Given the description of an element on the screen output the (x, y) to click on. 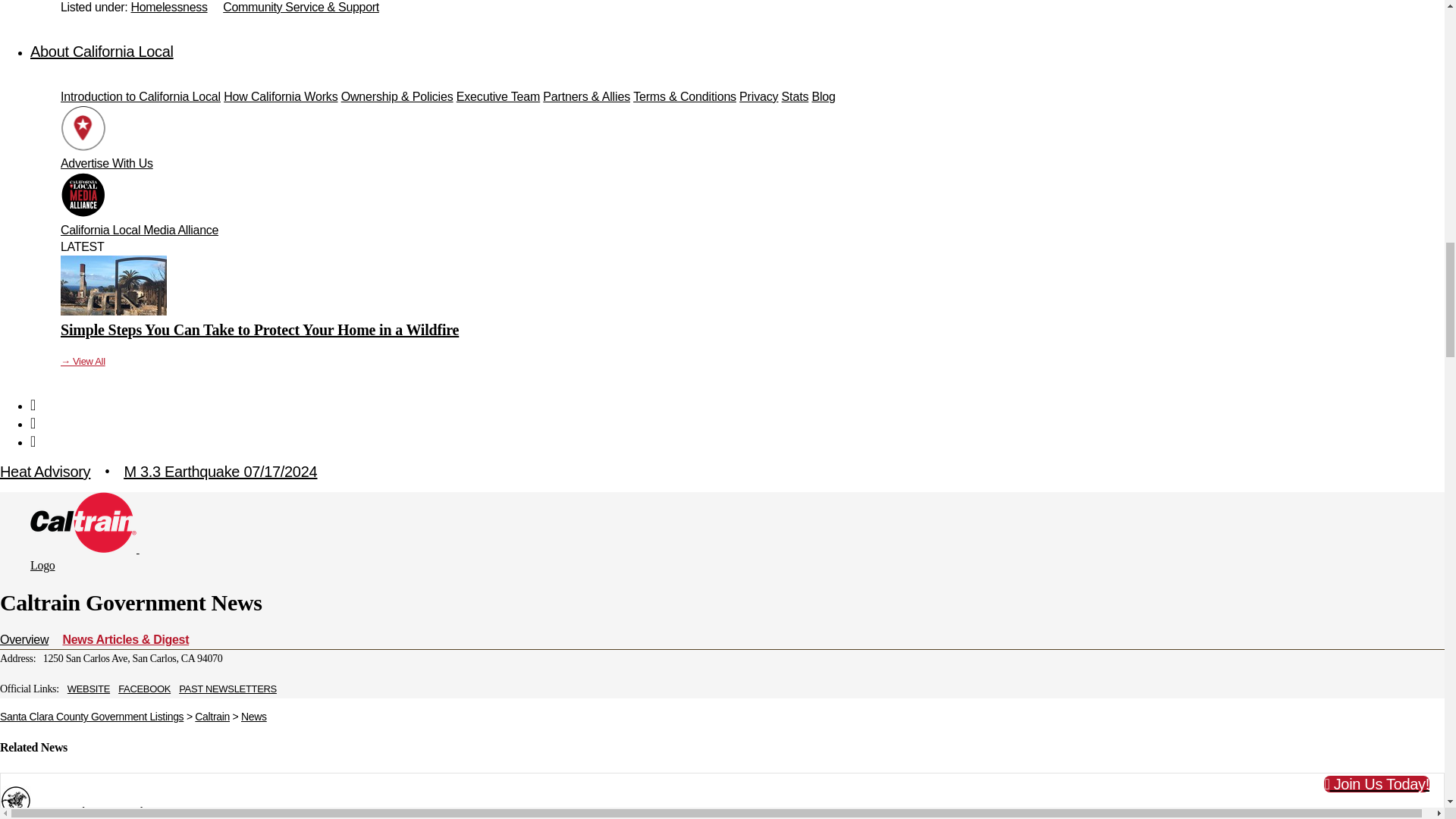
Click for more information. (220, 471)
All about California Local. (101, 51)
Click for more information. (45, 471)
Gilroy Dispatch (15, 800)
